Given the description of an element on the screen output the (x, y) to click on. 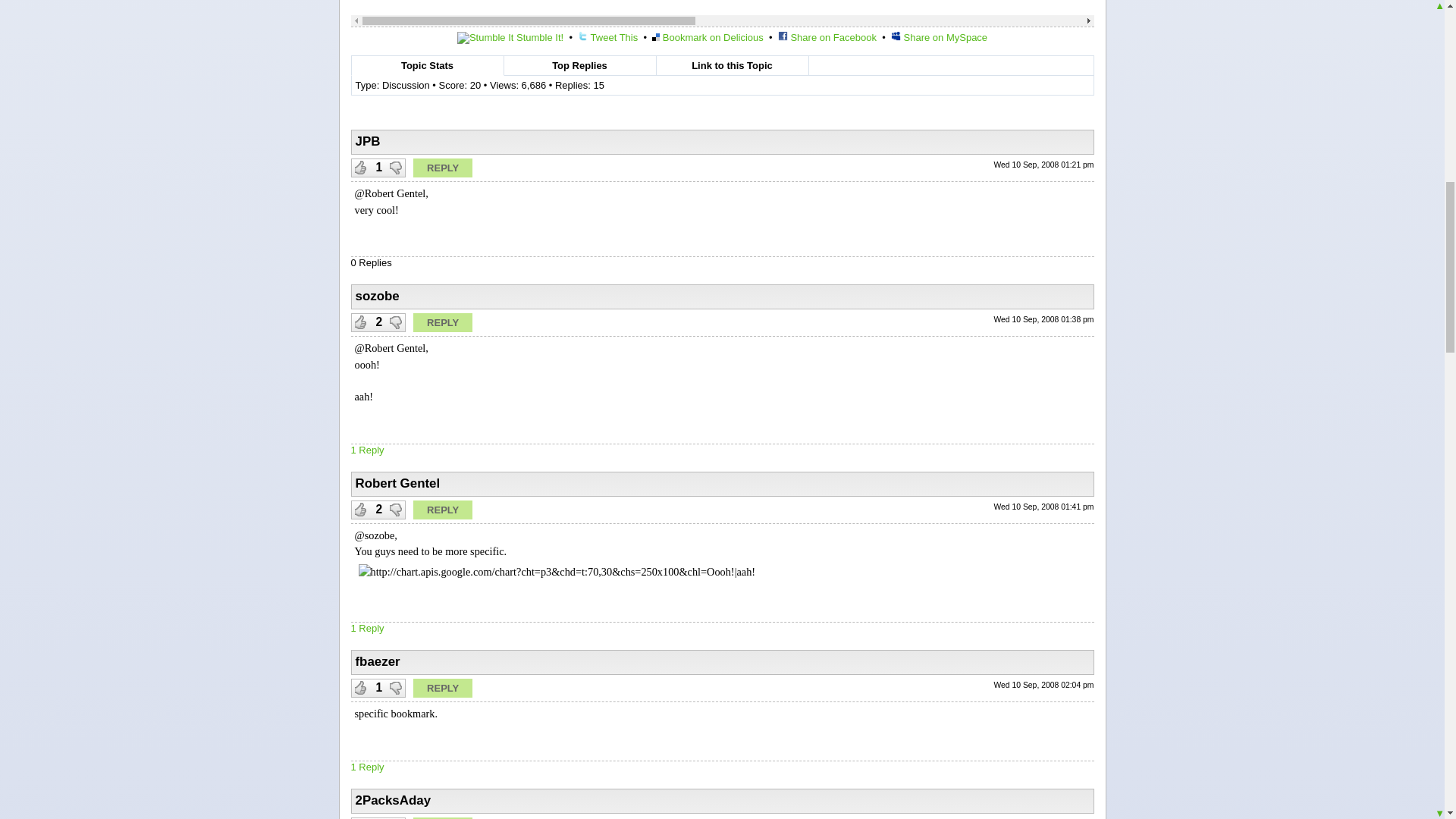
Share on Facebook (826, 37)
Reply (442, 167)
Stumble It! (510, 37)
Share on MySpace (939, 37)
Tweet This (607, 37)
Bookmark on Delicious (707, 37)
